Given the description of an element on the screen output the (x, y) to click on. 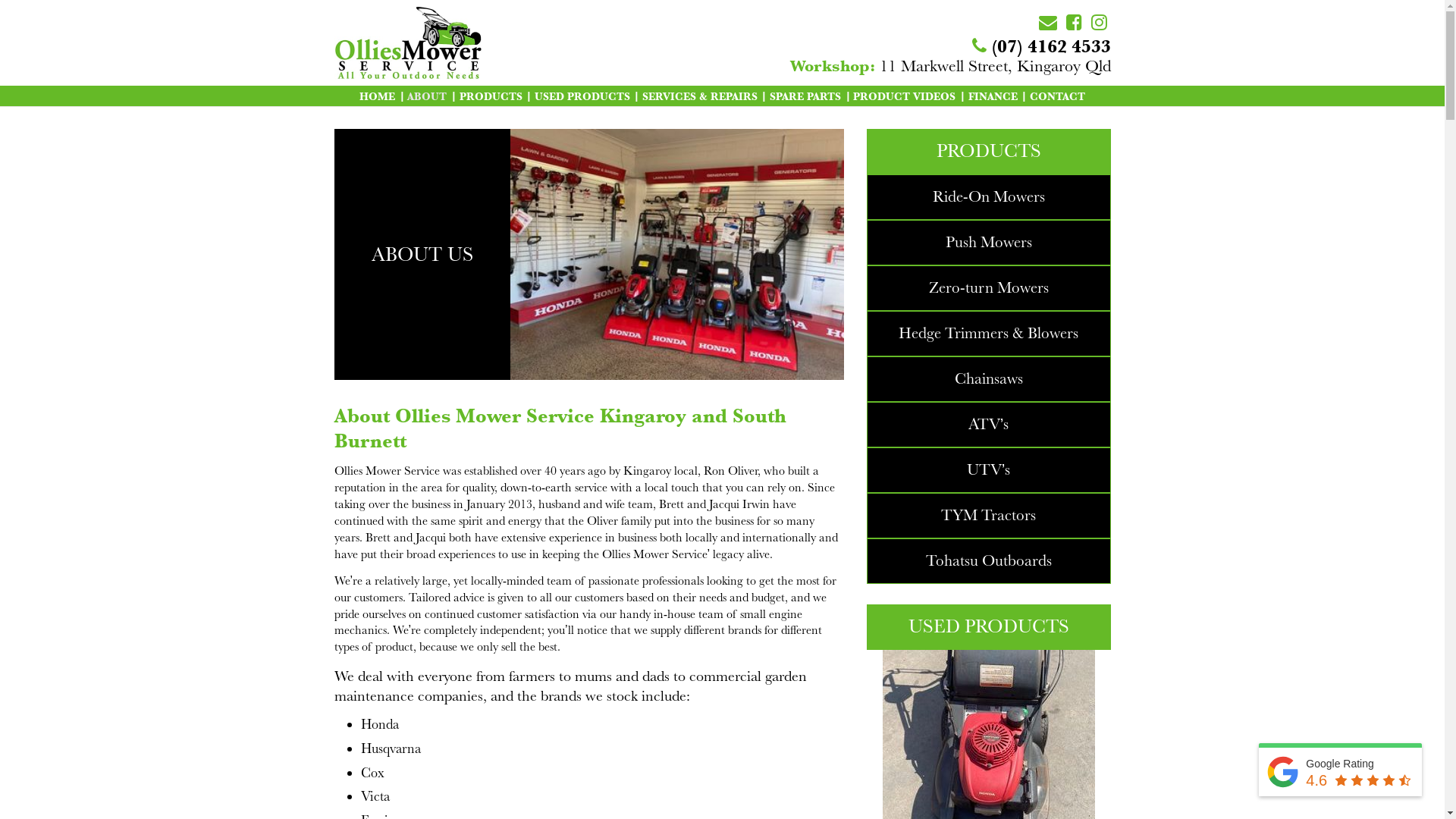
PRODUCT VIDEOS Element type: text (904, 95)
ABOUT Element type: text (426, 95)
Push Mowers Element type: text (988, 242)
TYM Tractors Element type: text (988, 515)
HOME Element type: text (377, 95)
(07) 4162 4533 Element type: text (1041, 46)
SPARE PARTS Element type: text (804, 95)
Ollies Mower Element type: text (351, 105)
PRODUCTS Element type: text (490, 95)
Chainsaws Element type: text (988, 378)
Ride-On Mowers Element type: text (988, 196)
Tohatsu Outboards Element type: text (988, 560)
CONTACT Element type: text (1057, 95)
Zero-turn Mowers Element type: text (988, 287)
SERVICES & REPAIRS Element type: text (699, 95)
Hedge Trimmers & Blowers Element type: text (988, 333)
11 Markwell Street, Kingaroy Qld Element type: text (950, 65)
FINANCE Element type: text (992, 95)
USED PRODUCTS Element type: text (582, 95)
